Given the description of an element on the screen output the (x, y) to click on. 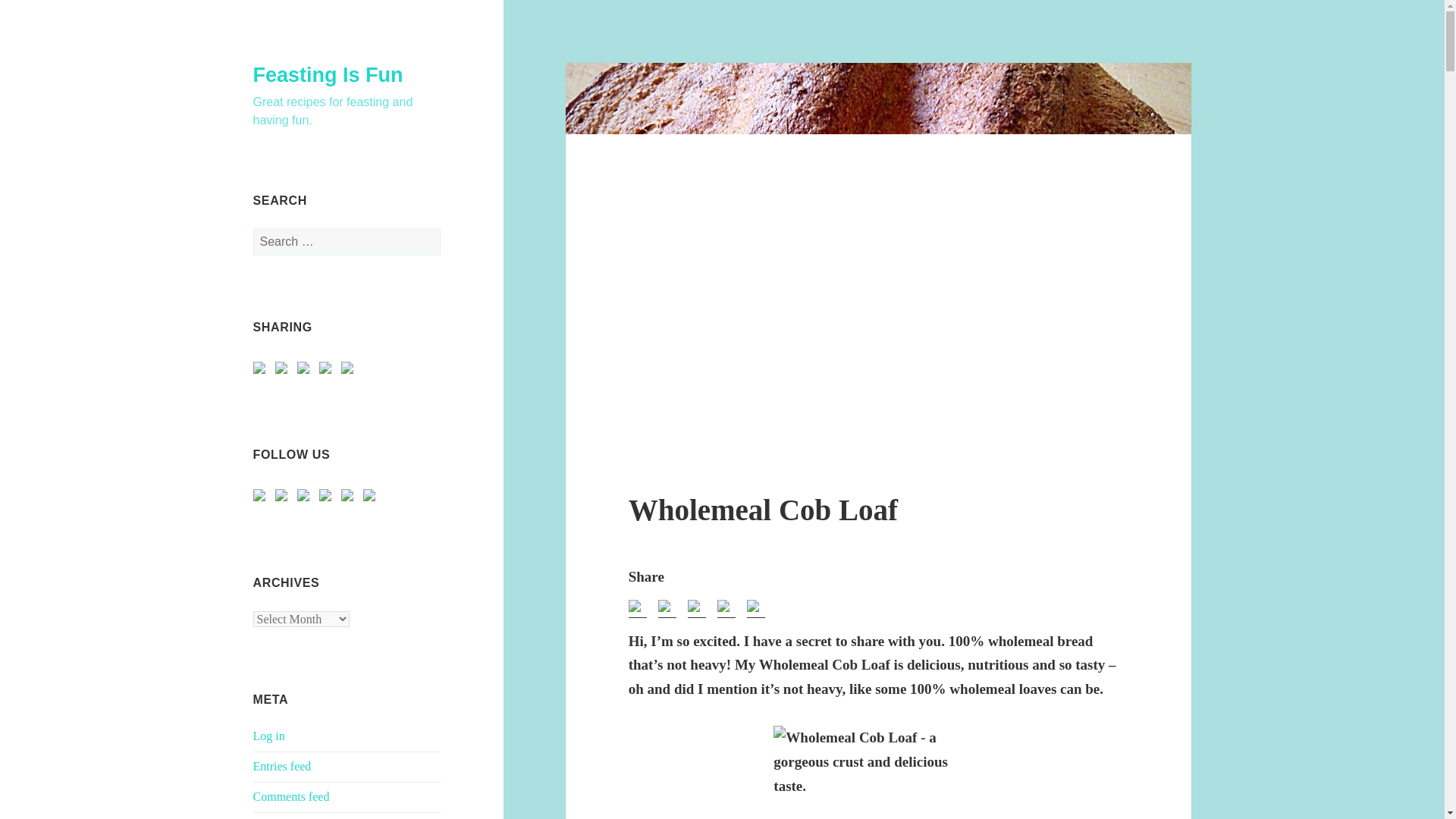
Pin it with Pinterest (306, 370)
Pin it with Pinterest (302, 367)
Entries feed (282, 766)
Share on Linkedin (324, 367)
Share on tumblr (349, 370)
Share on Twitter (284, 370)
Share on Facebook (261, 370)
Log in (269, 735)
Comments feed (291, 796)
